Given the description of an element on the screen output the (x, y) to click on. 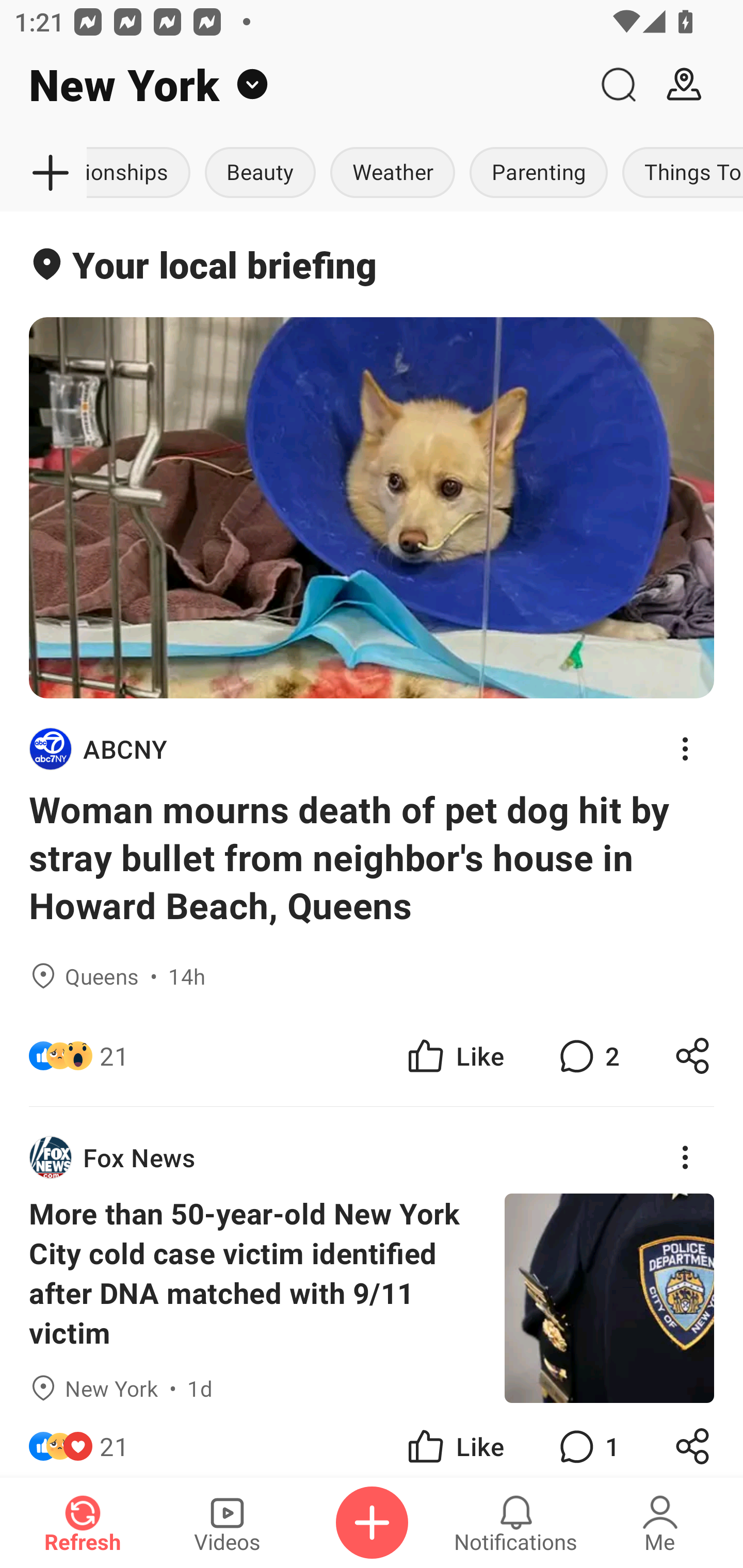
New York (292, 84)
Relationships (141, 172)
Beauty (260, 172)
Weather (392, 172)
Parenting (538, 172)
Things To Do (679, 172)
21 (114, 1055)
Like (454, 1055)
2 (587, 1055)
21 (114, 1440)
Like (454, 1440)
1 (587, 1440)
Videos (227, 1522)
Notifications (516, 1522)
Me (659, 1522)
